Given the description of an element on the screen output the (x, y) to click on. 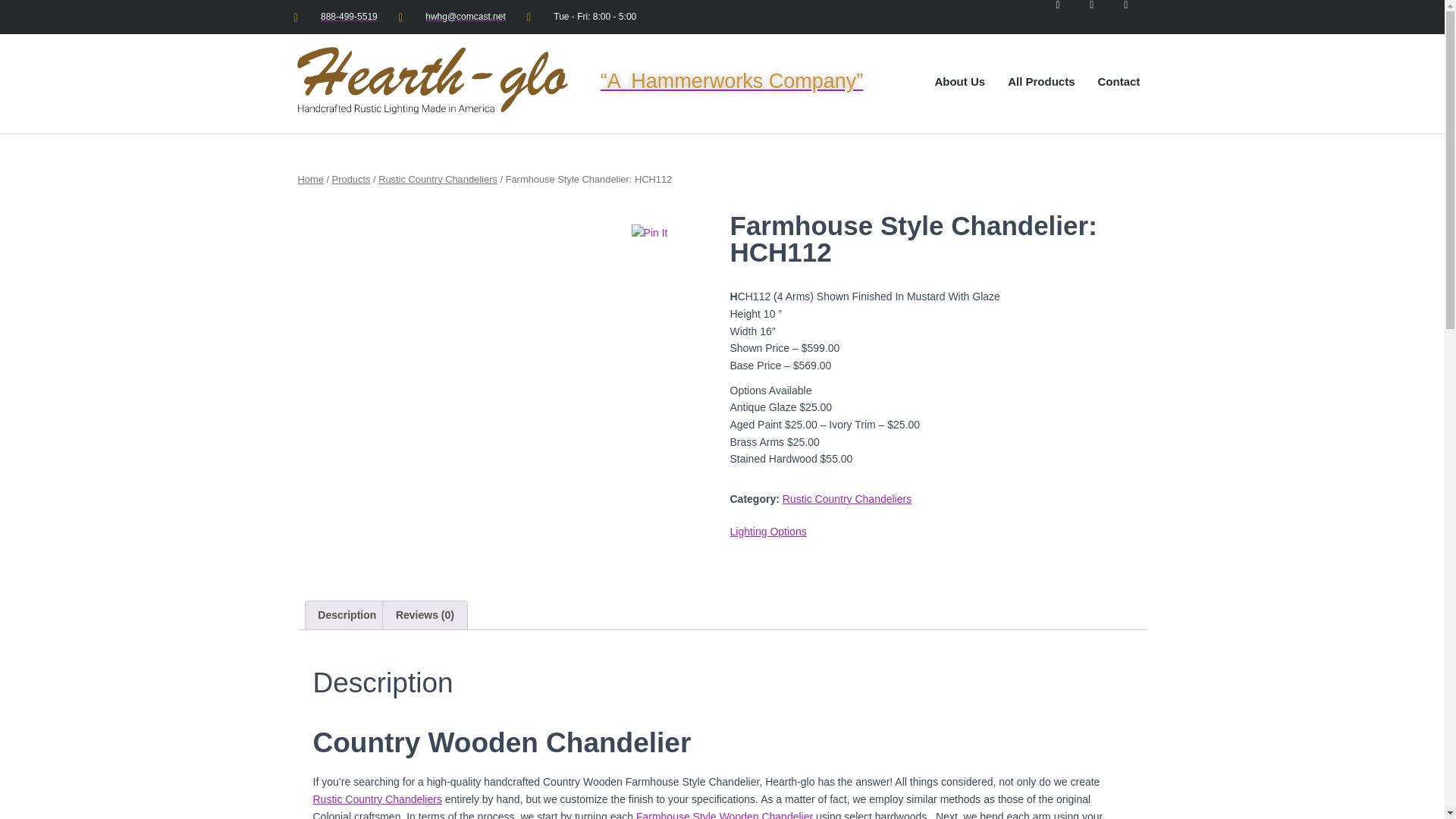
Rustic Country Chandeliers (847, 499)
Rustic Country Chandeliers (437, 179)
Products (351, 179)
All Products (1040, 81)
Farmhouse Style Wooden Chandelier (724, 814)
Rustic Country Chandeliers (377, 799)
Contact (1118, 81)
888-499-5519 (335, 16)
Home (310, 179)
About Us (959, 81)
Lighting Options (767, 530)
Pin It (649, 232)
Description (346, 614)
